Given the description of an element on the screen output the (x, y) to click on. 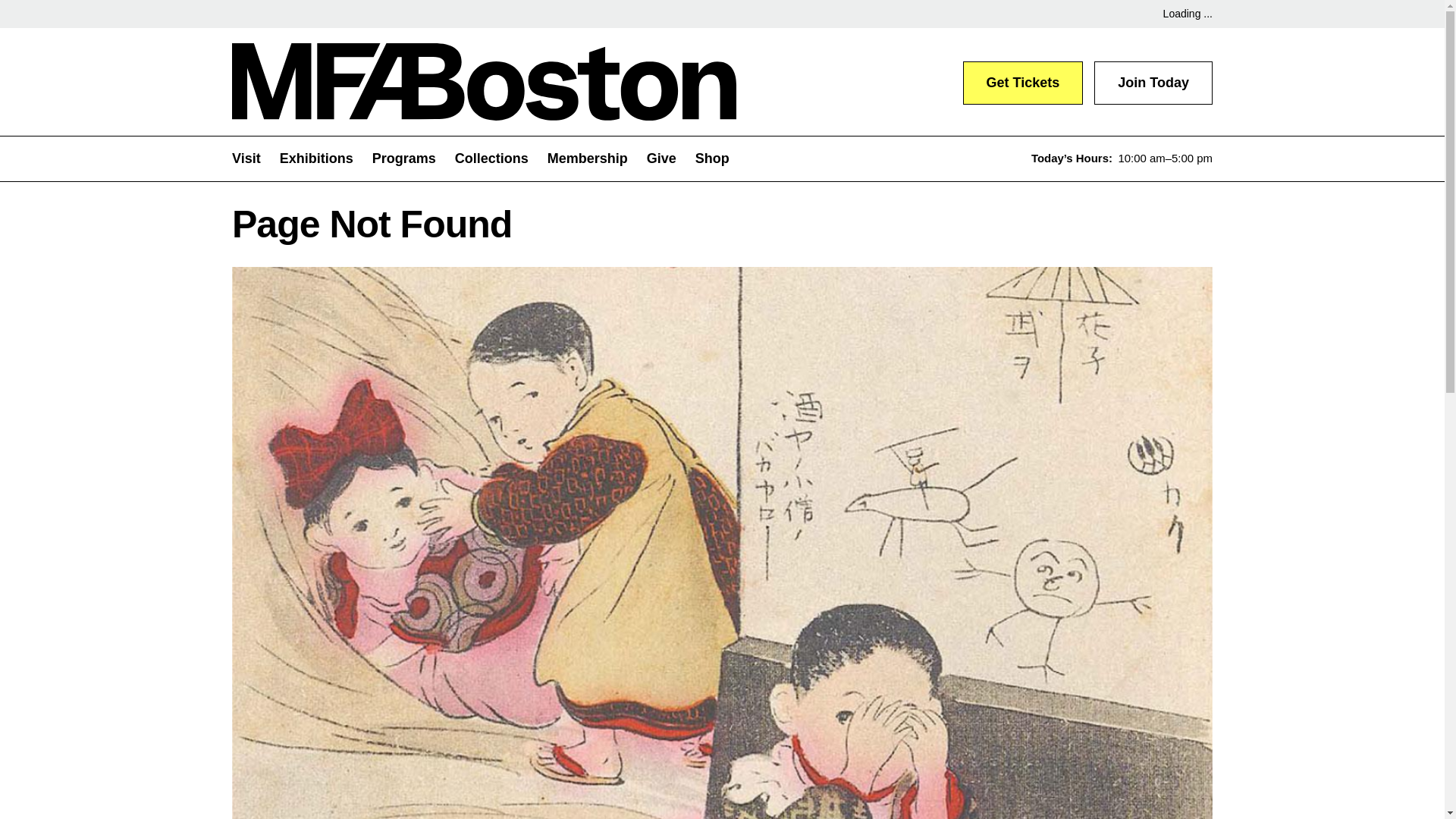
Search (1012, 157)
Expand menu Programs (413, 158)
Home (483, 81)
Expand menu Exhibitions (325, 158)
Expand menu Visit (255, 158)
